Given the description of an element on the screen output the (x, y) to click on. 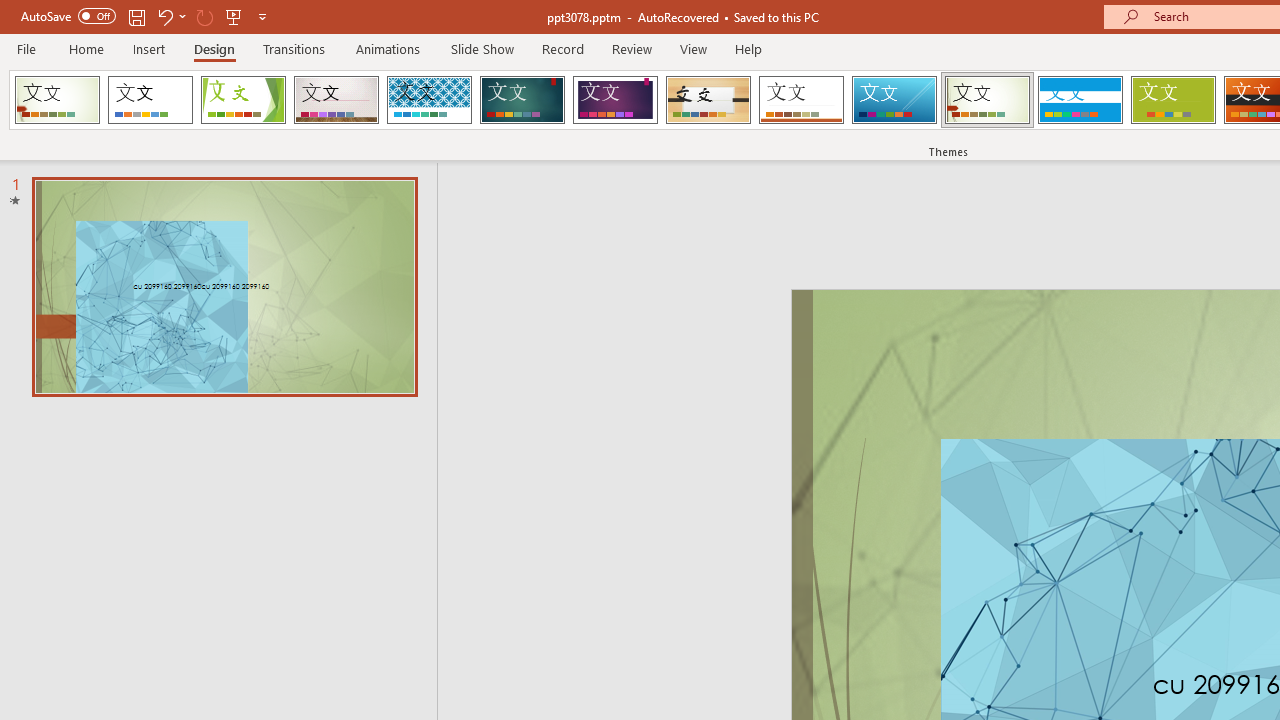
Gallery (336, 100)
Banded (1080, 100)
Integral (429, 100)
Retrospect (801, 100)
Ion Boardroom (615, 100)
Facet (243, 100)
